Given the description of an element on the screen output the (x, y) to click on. 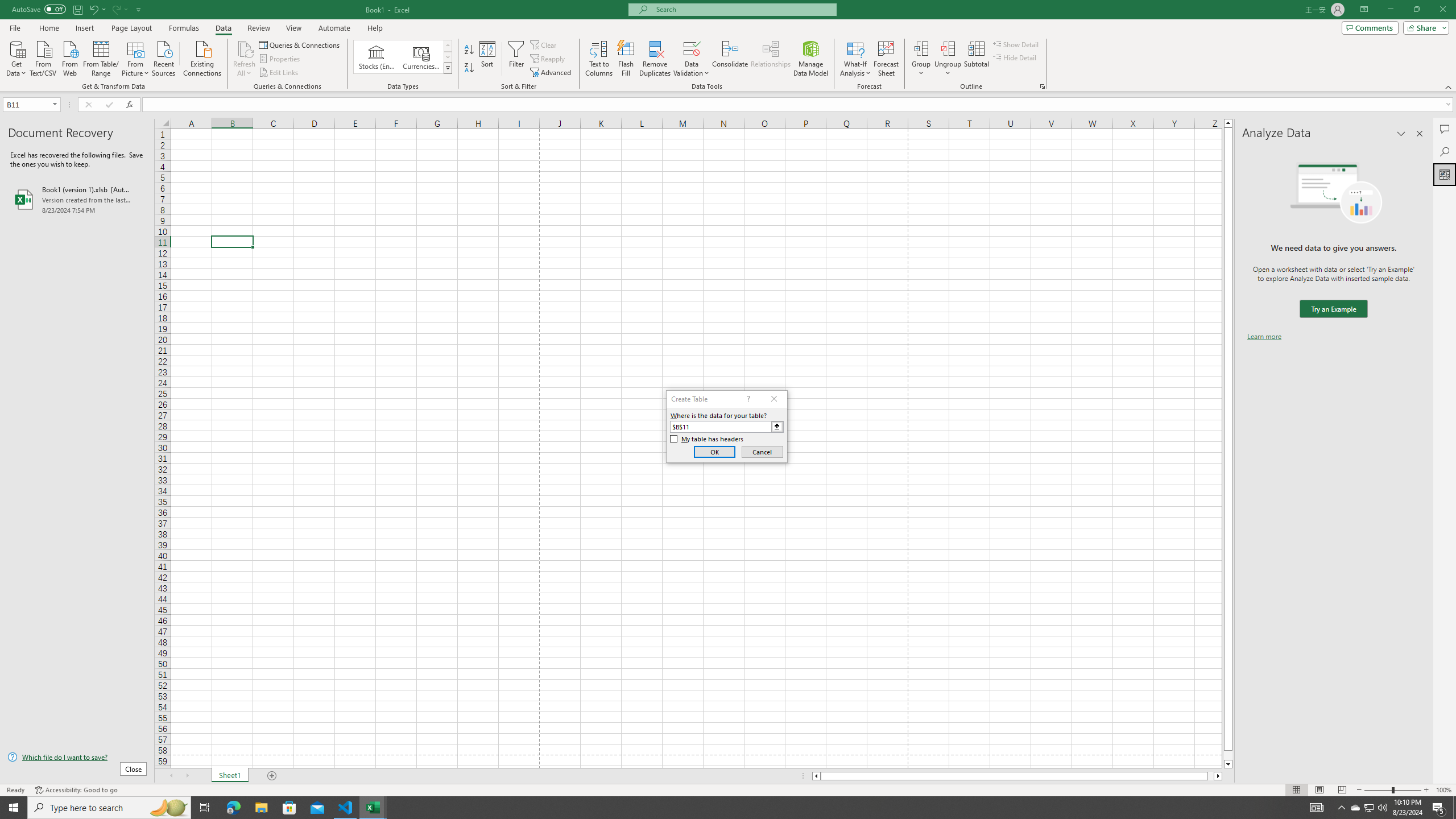
Automate (334, 28)
Search (1444, 151)
Data Types (448, 67)
Show Detail (1016, 44)
Ungroup... (947, 48)
Text to Columns... (598, 58)
Add Sheet (272, 775)
Data Validation... (691, 48)
Reapply (548, 58)
Refresh All (244, 58)
Recent Sources (163, 57)
Group... (921, 58)
Line down (1228, 764)
Row up (448, 45)
Ungroup... (947, 58)
